Given the description of an element on the screen output the (x, y) to click on. 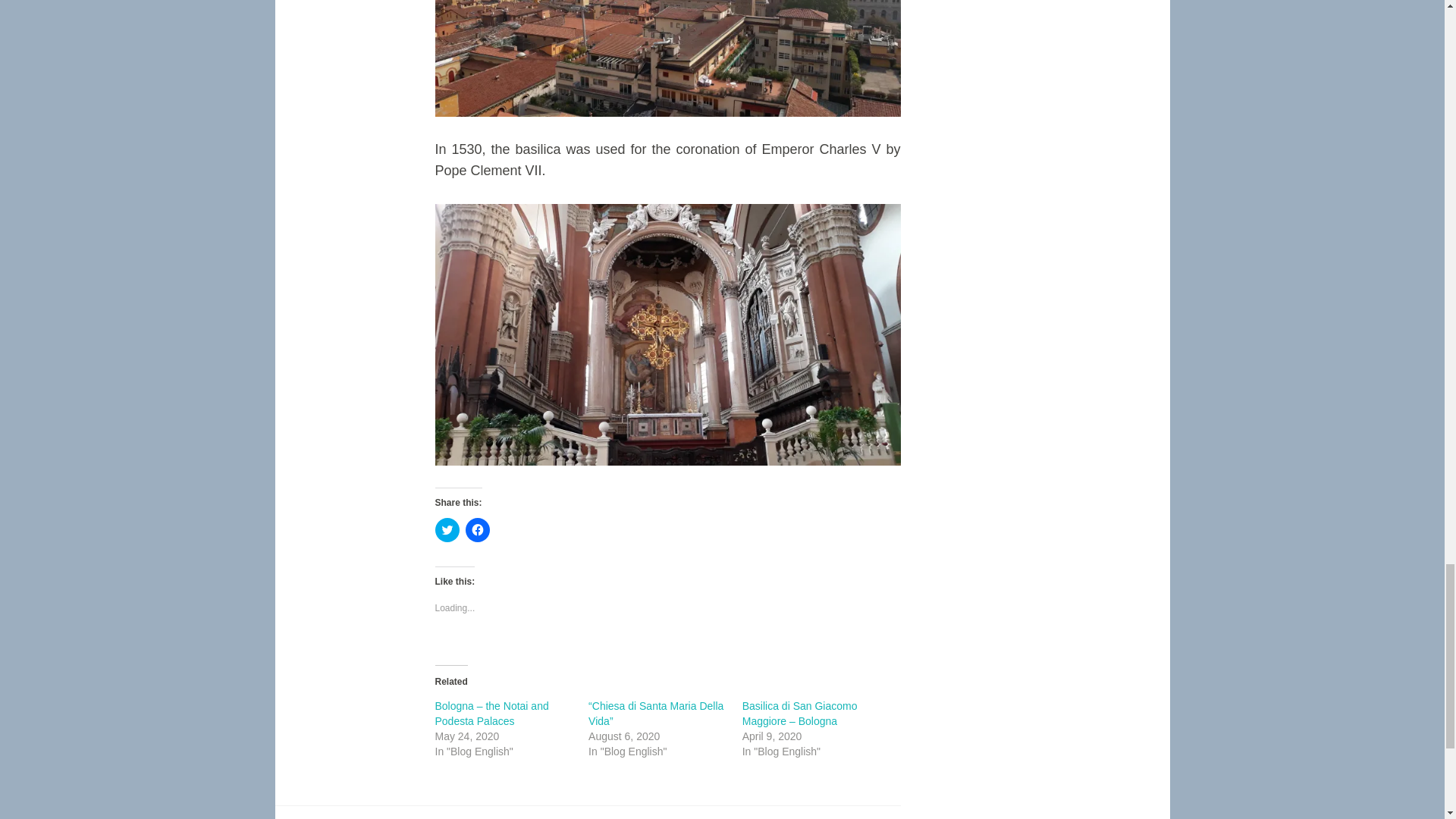
Click to share on Twitter (447, 529)
Click to share on Facebook (477, 529)
